Given the description of an element on the screen output the (x, y) to click on. 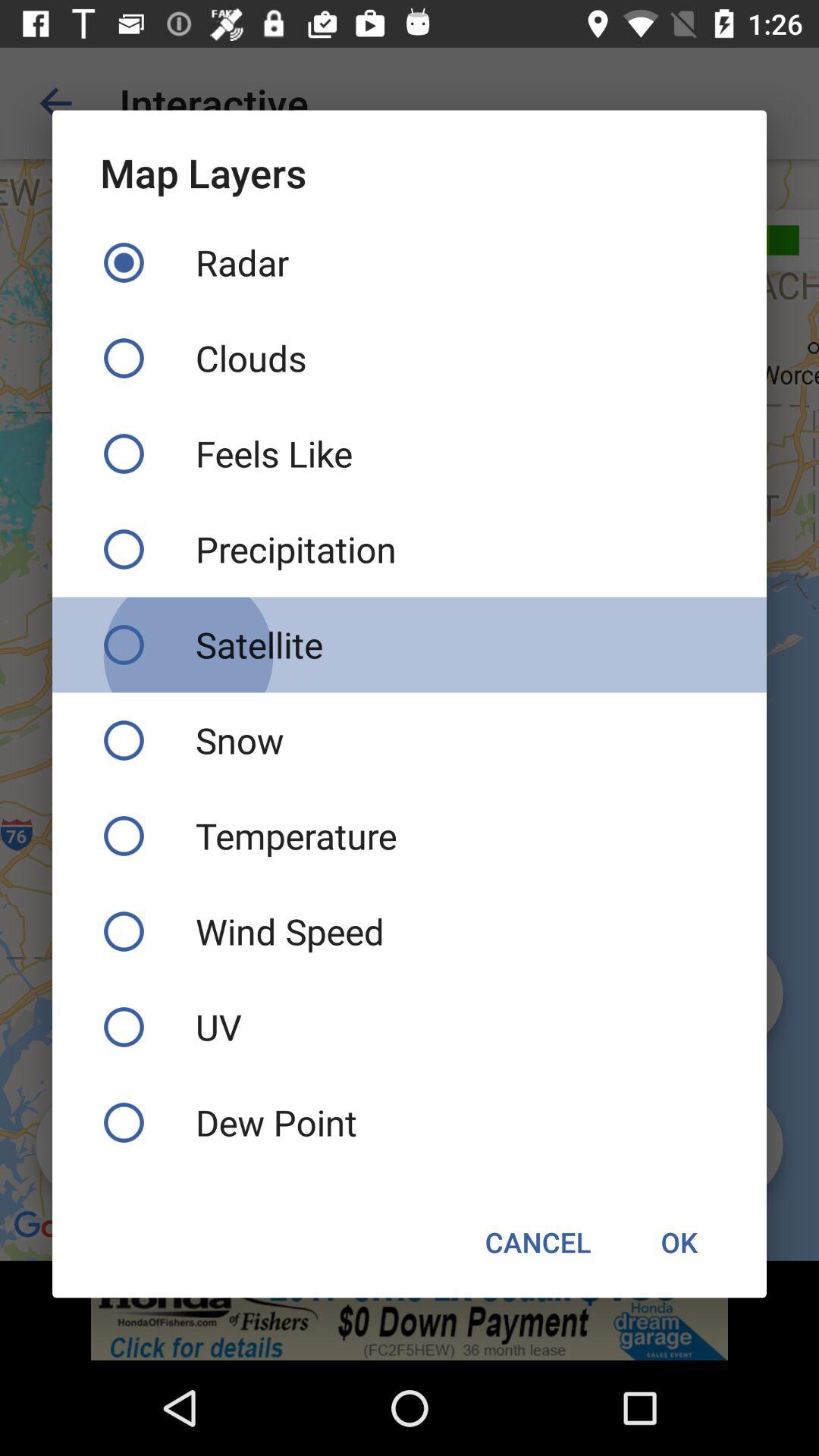
click item next to the ok (538, 1241)
